Given the description of an element on the screen output the (x, y) to click on. 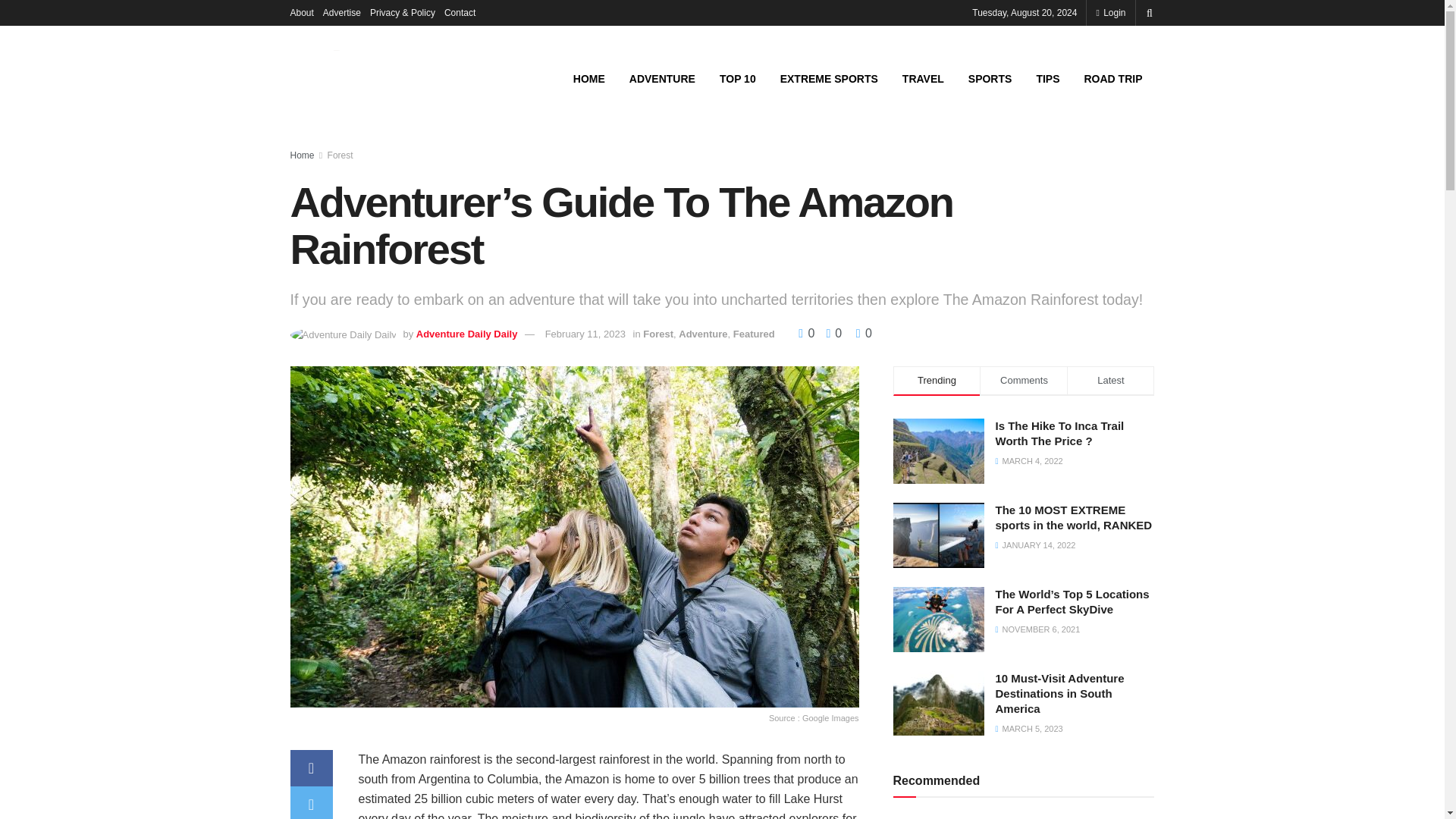
0 (807, 332)
Forest (657, 333)
Adventure (702, 333)
TOP 10 (737, 78)
EXTREME SPORTS (828, 78)
Contact (460, 12)
Advertise (342, 12)
TRAVEL (922, 78)
HOME (588, 78)
ADVENTURE (662, 78)
